Given the description of an element on the screen output the (x, y) to click on. 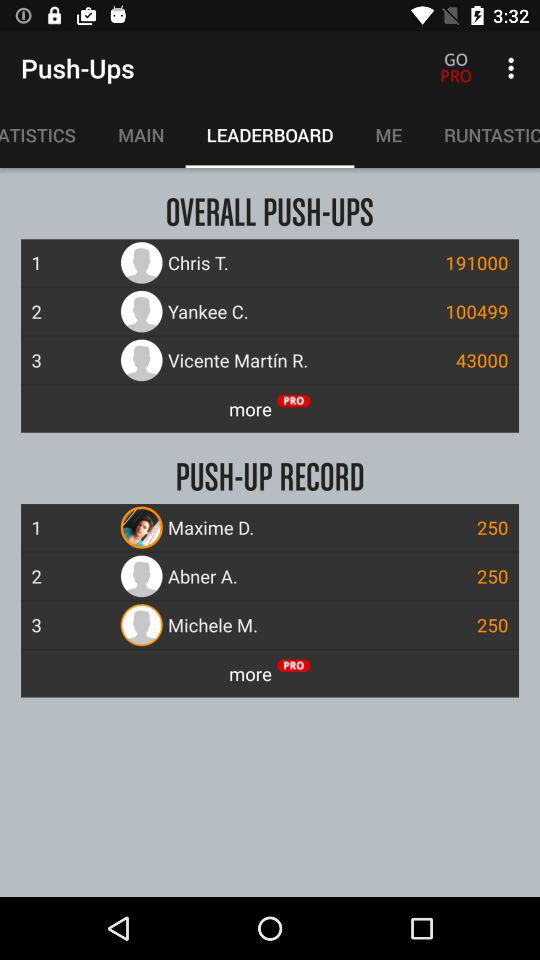
press the statistics item (48, 135)
